Given the description of an element on the screen output the (x, y) to click on. 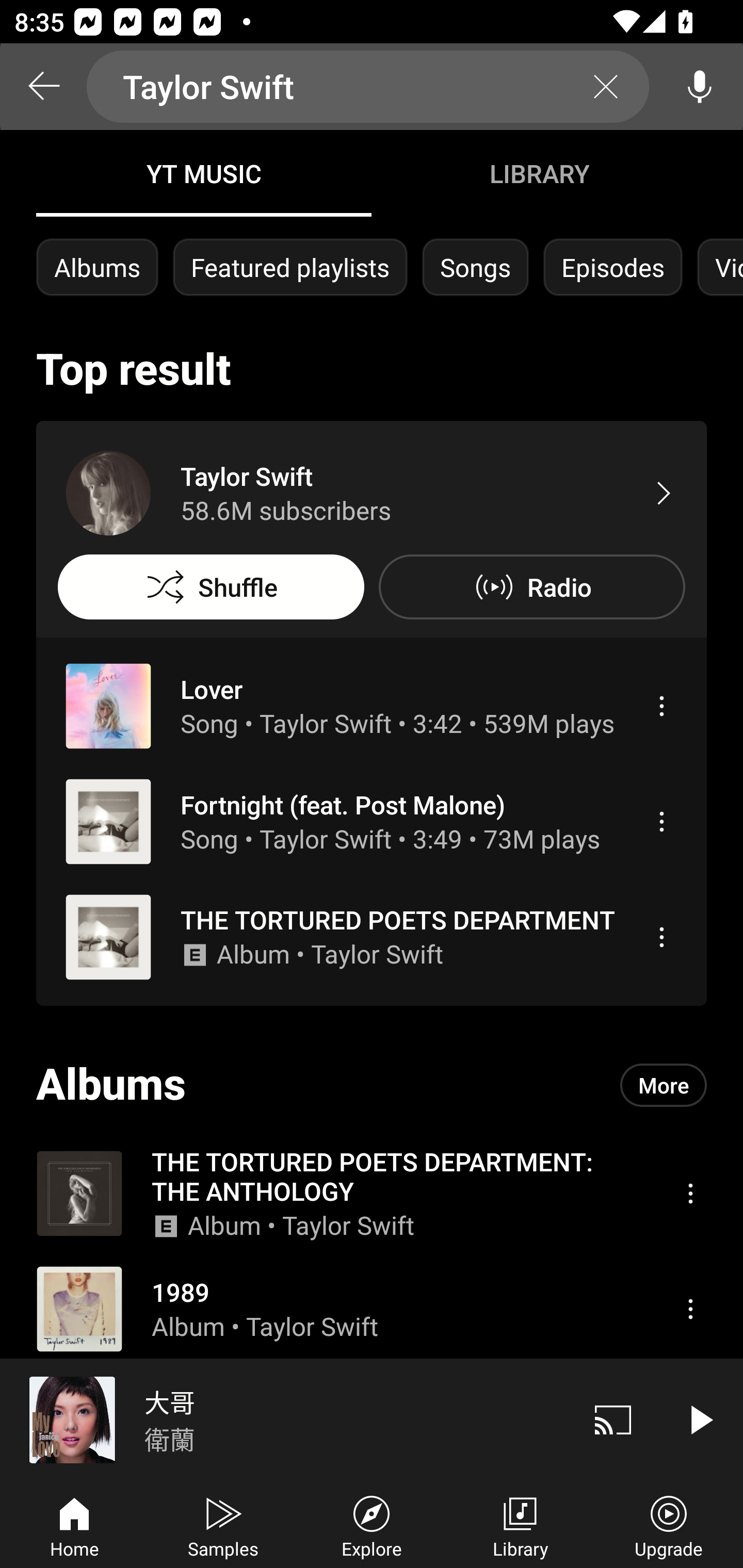
Search back (43, 86)
Taylor Swift (367, 86)
Clear search (605, 86)
Voice search (699, 86)
Library LIBRARY (538, 173)
Shuffle (210, 587)
Radio (531, 587)
Menu (661, 705)
Menu (661, 821)
Menu (661, 937)
Albums More More (371, 1084)
More (663, 1085)
Menu (690, 1193)
Menu (690, 1309)
大哥 衛蘭 (284, 1419)
Cast. Disconnected (612, 1419)
Play video (699, 1419)
Home (74, 1524)
Samples (222, 1524)
Explore (371, 1524)
Library (519, 1524)
Upgrade (668, 1524)
